Given the description of an element on the screen output the (x, y) to click on. 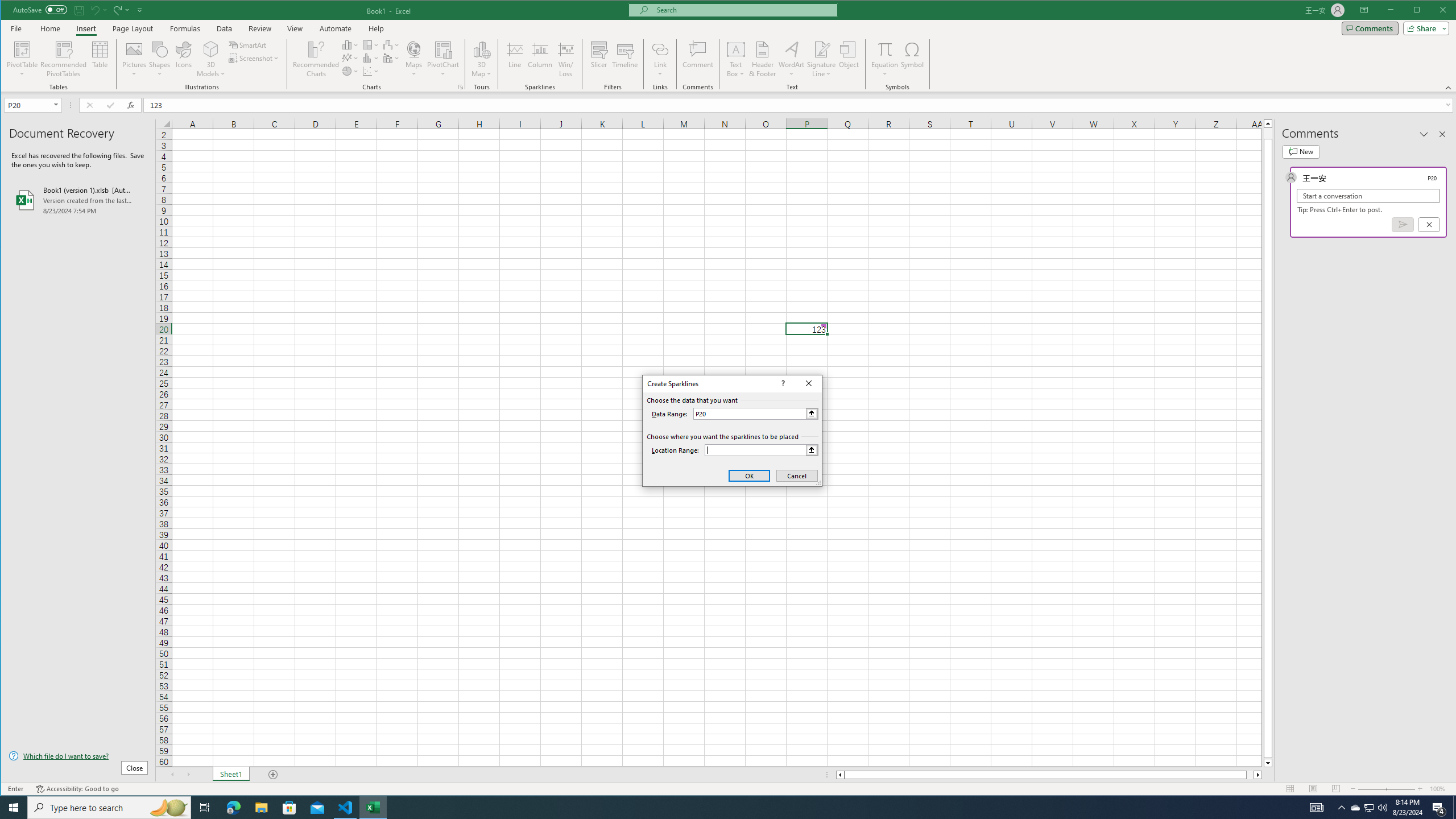
PivotChart (443, 59)
Maps (413, 59)
Start a conversation (1368, 195)
Show desktop (1454, 807)
Screenshot (254, 57)
Task Pane Options (1423, 133)
Notification Chevron (1341, 807)
Review (259, 28)
New comment (1300, 151)
PivotTable (22, 59)
Timeline (625, 59)
Post comment (Ctrl + Enter) (1402, 224)
Zoom Out (1372, 788)
